Given the description of an element on the screen output the (x, y) to click on. 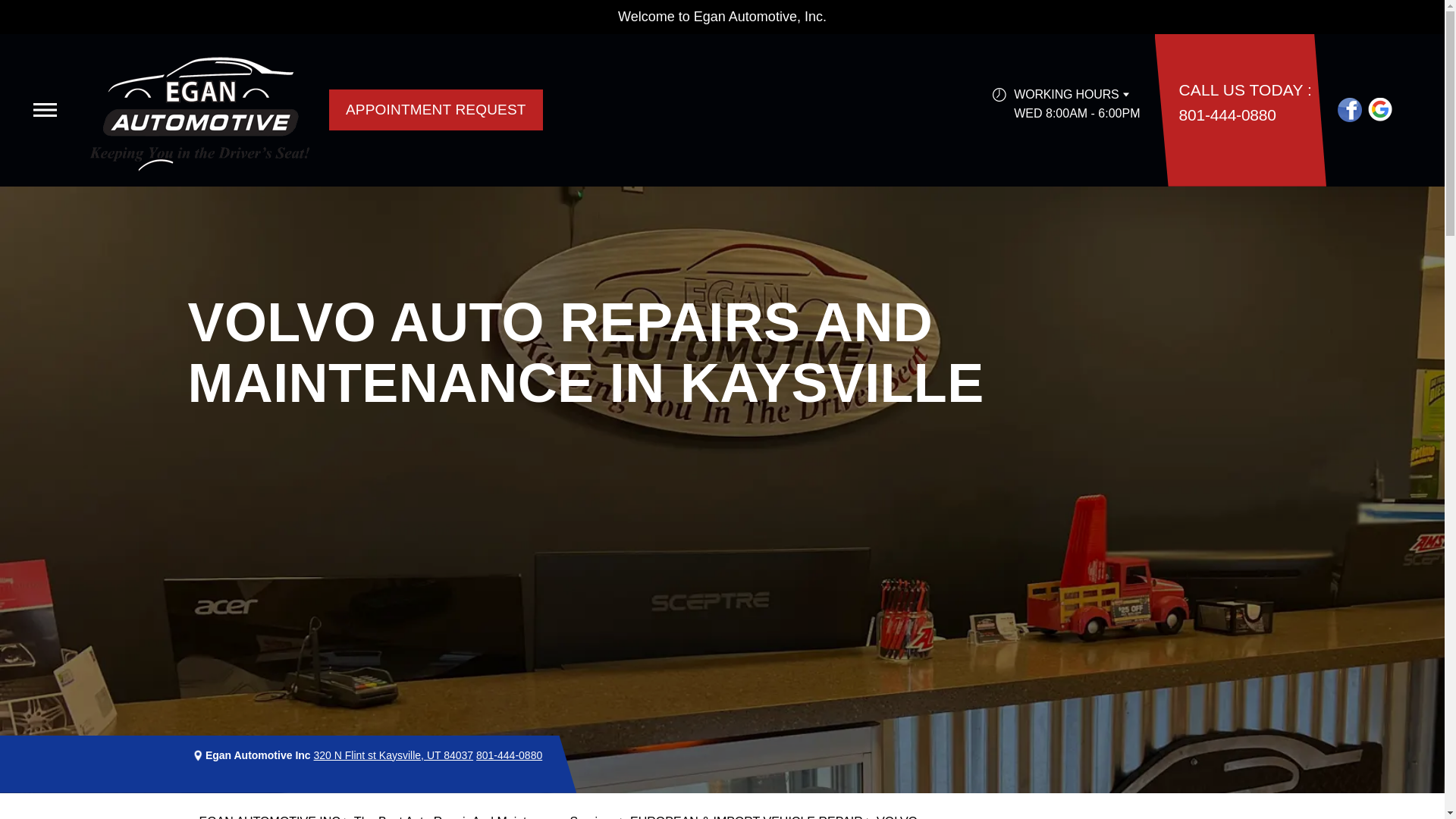
320 N Flint st Kaysville, UT 84037 (394, 755)
open-navigation-button (44, 110)
801-444-0880 (1227, 114)
APPOINTMENT REQUEST (436, 109)
